Given the description of an element on the screen output the (x, y) to click on. 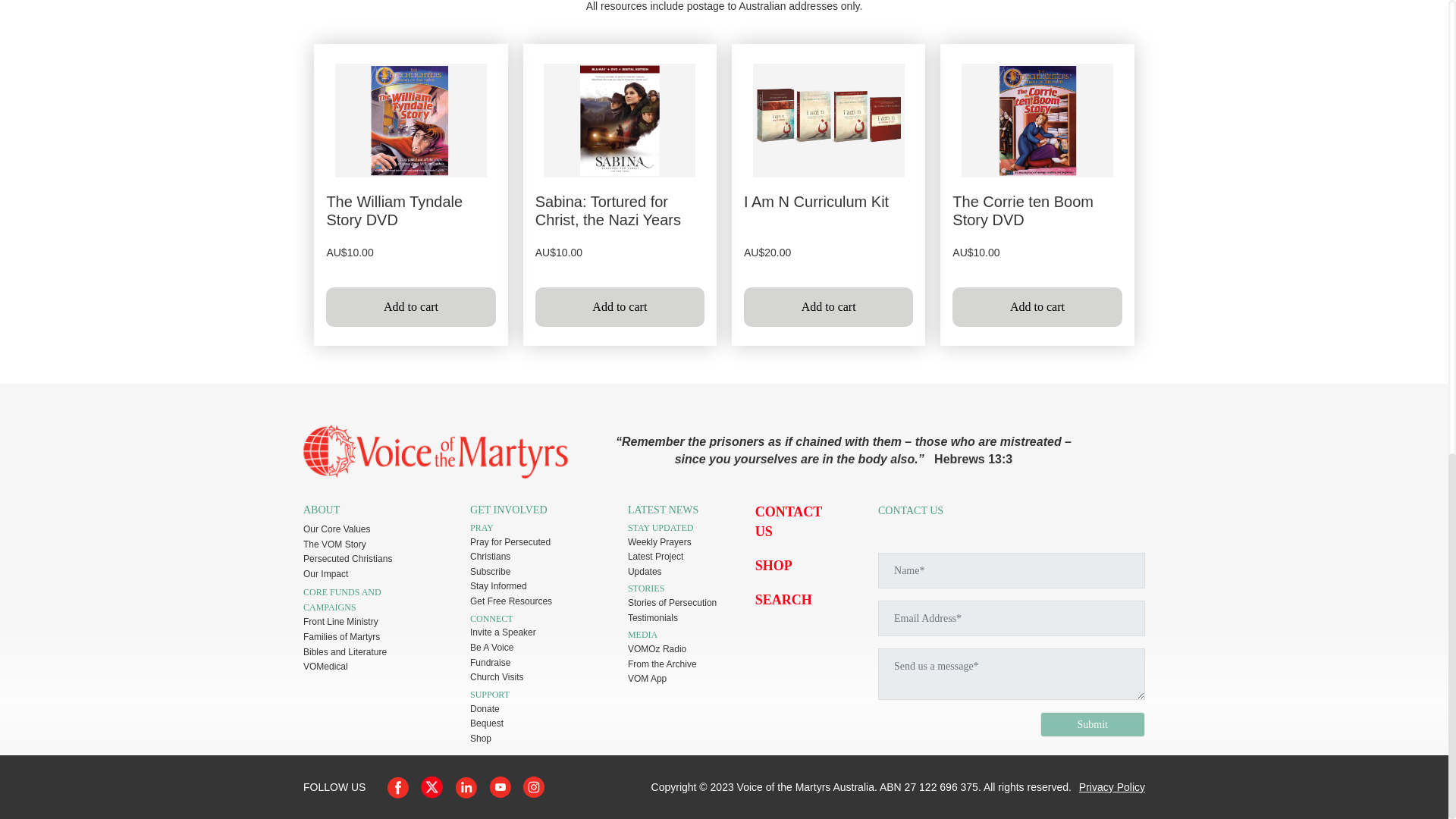
Submit (1092, 724)
